Given the description of an element on the screen output the (x, y) to click on. 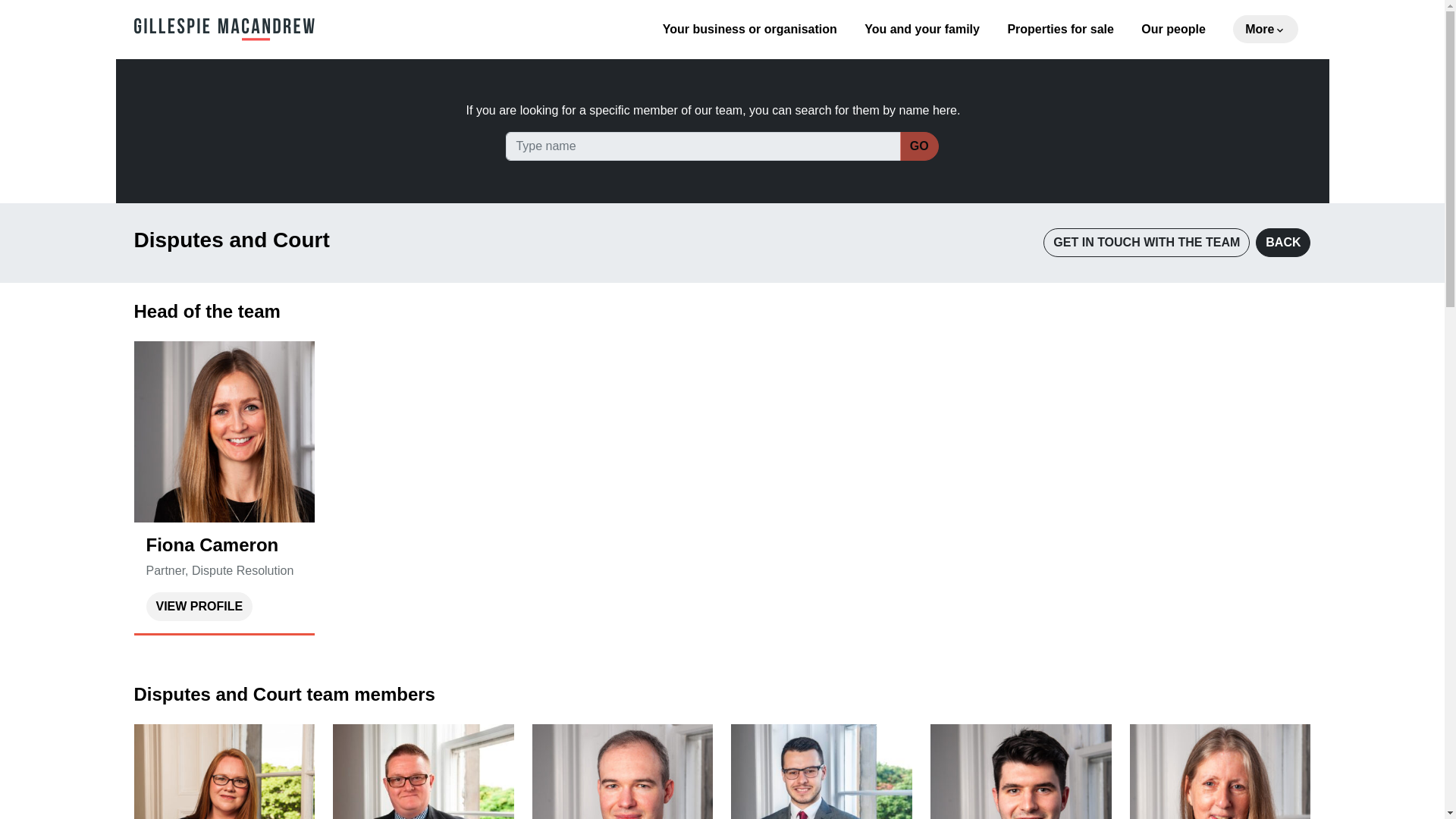
Our people (1173, 29)
More (1265, 29)
Your business or organisation (749, 29)
Properties for sale (1060, 29)
Skip to Main Content (11, 7)
You and your family (921, 29)
